Given the description of an element on the screen output the (x, y) to click on. 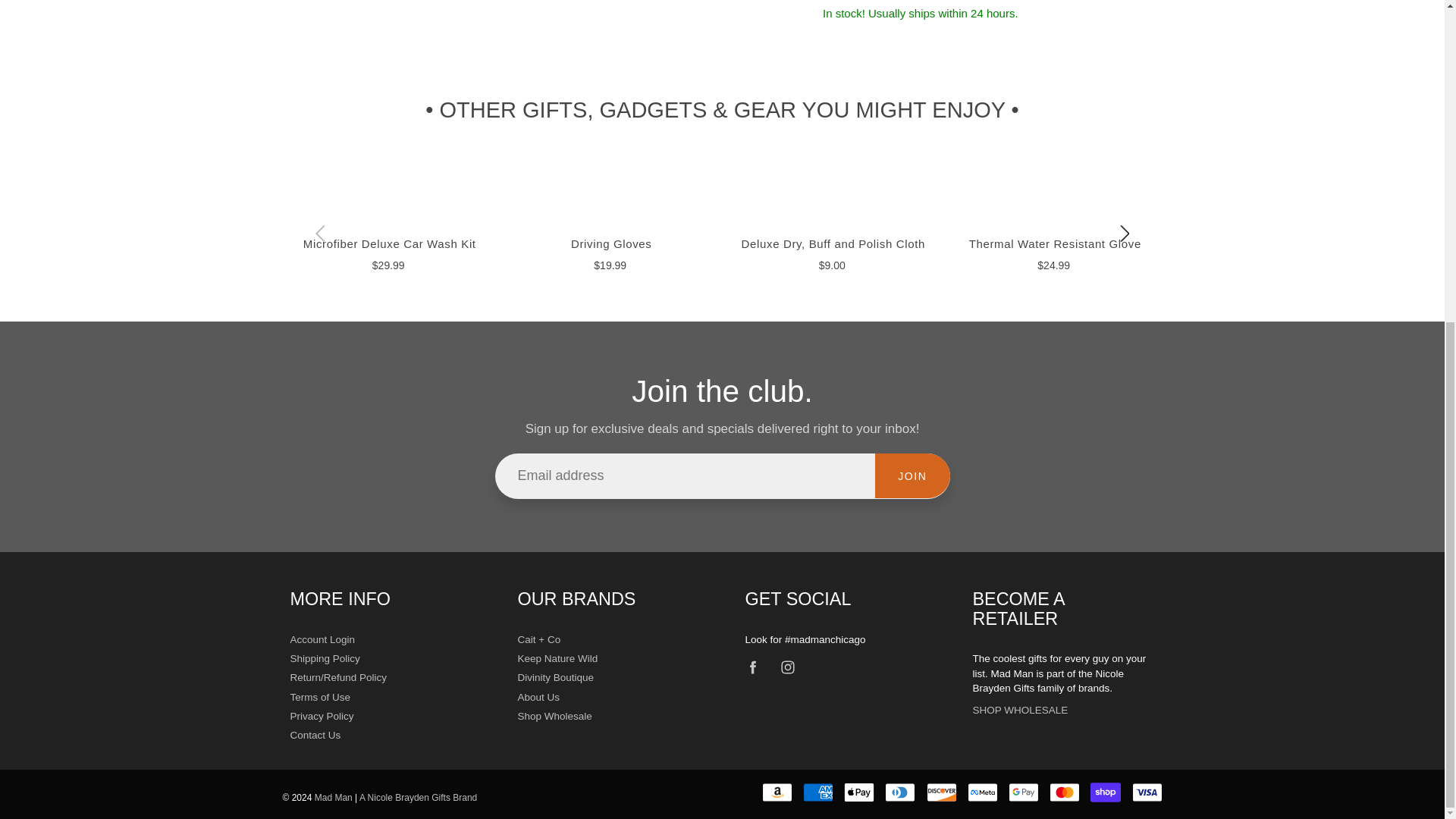
Apple Pay (859, 792)
Meta Pay (982, 792)
Mastercard (1064, 792)
Visa (1146, 792)
Amazon (776, 792)
Google Pay (1024, 792)
Discover (941, 792)
American Express (817, 792)
Diners Club (900, 792)
Shop Pay (1105, 792)
